Given the description of an element on the screen output the (x, y) to click on. 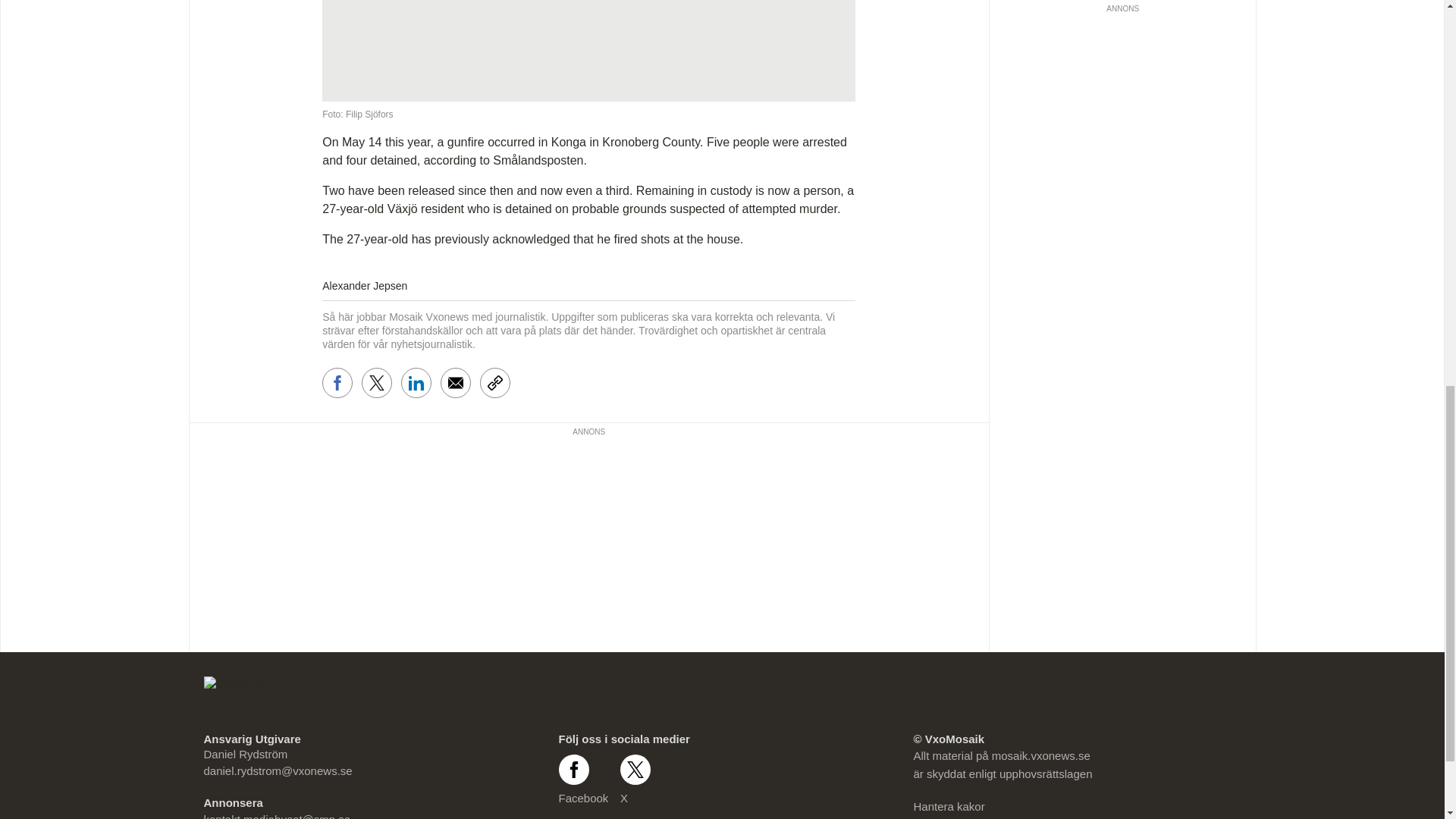
mosaik.vxonews.se (1040, 755)
Kakpolicy (936, 817)
Facebook (582, 779)
